Given the description of an element on the screen output the (x, y) to click on. 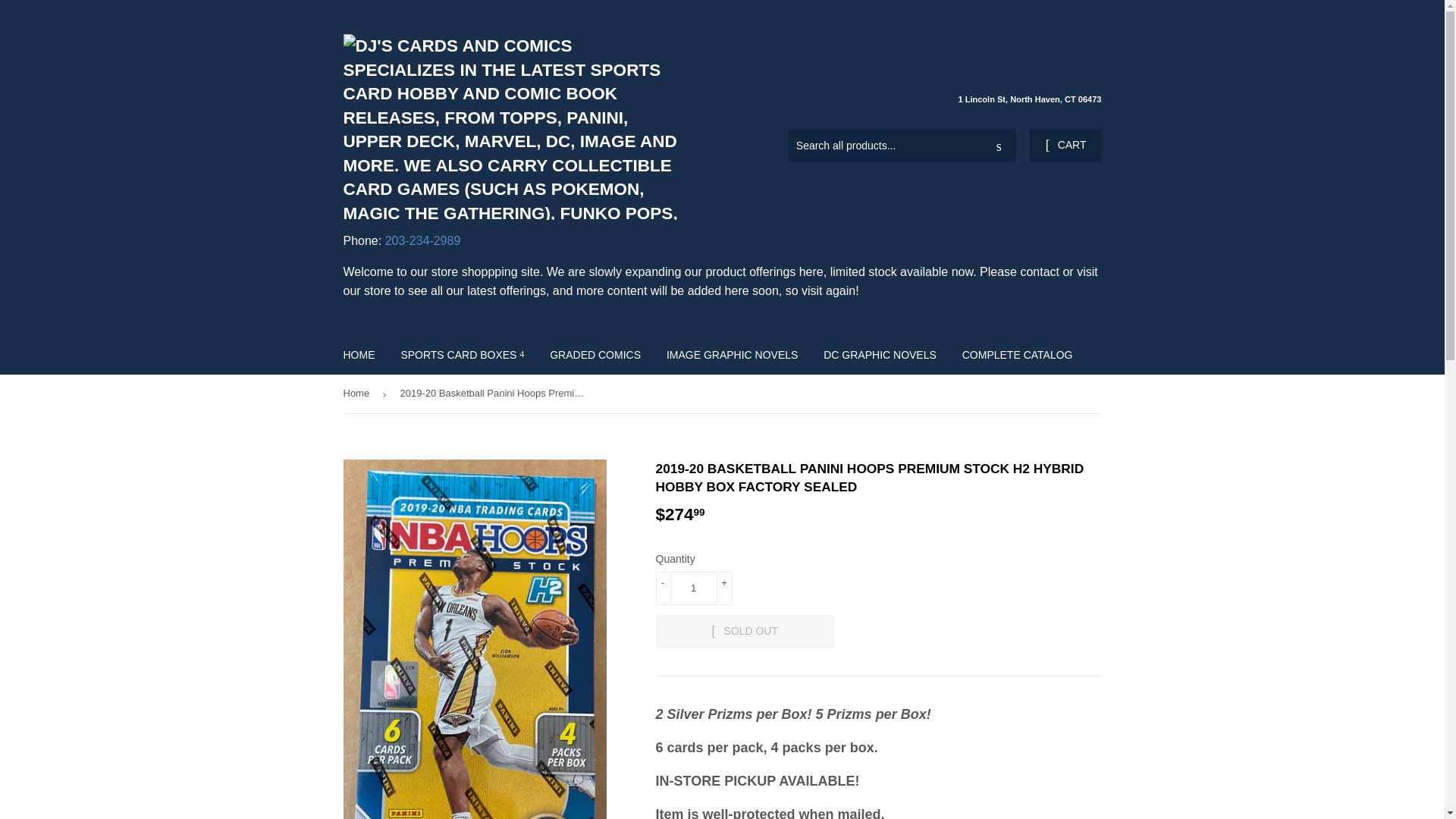
DC GRAPHIC NOVELS (879, 354)
203-234-2989 (423, 240)
SPORTS CARD BOXES (461, 354)
HOME (359, 354)
1 (692, 588)
CART (1064, 145)
COMPLETE CATALOG (1017, 354)
1 Lincoln St, North Haven, CT 06473 (1029, 100)
Search (998, 146)
SOLD OUT (743, 631)
IMAGE GRAPHIC NOVELS (732, 354)
GRADED COMICS (595, 354)
